Given the description of an element on the screen output the (x, y) to click on. 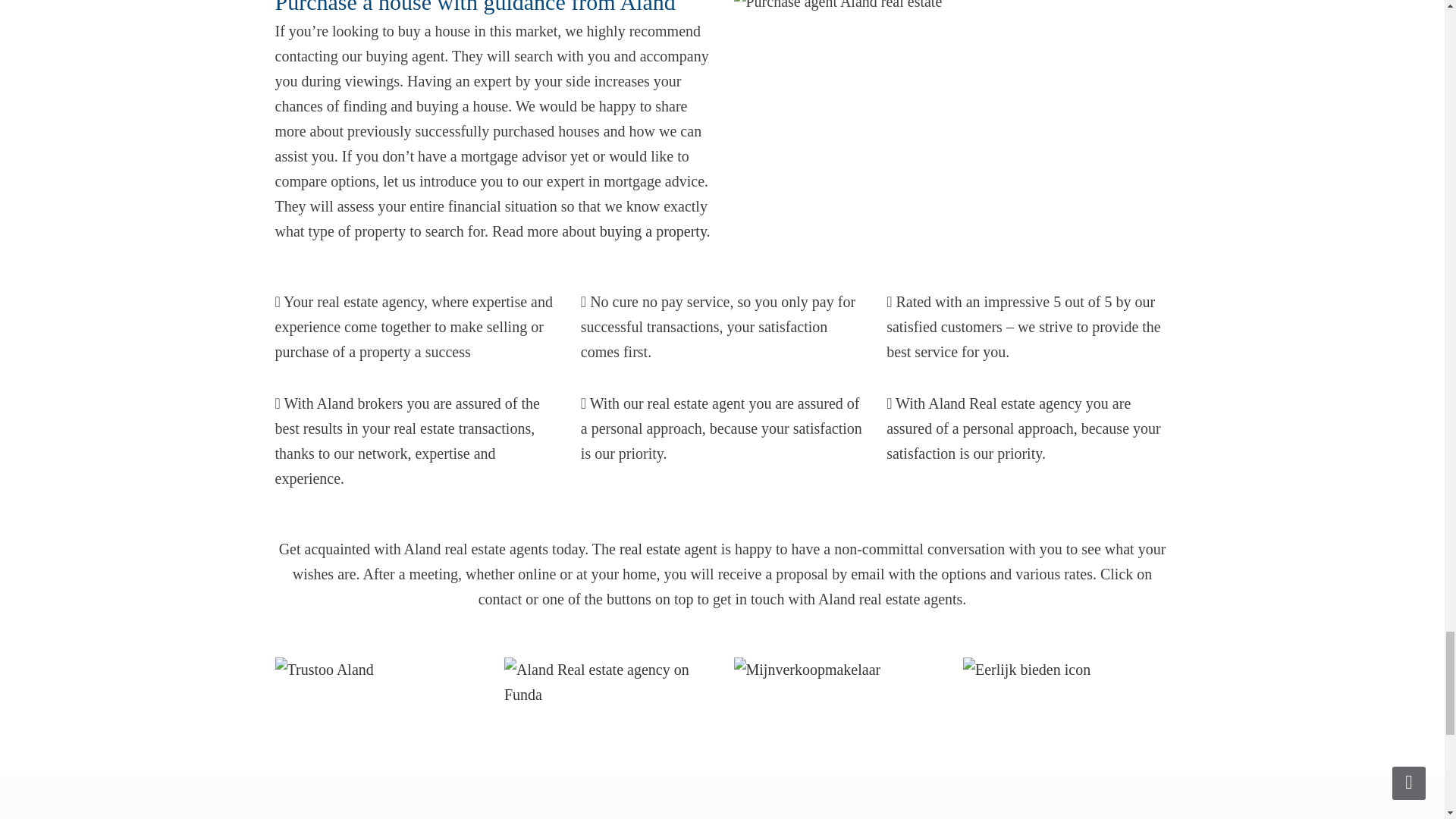
trustoo-icon (323, 669)
Real Estate Agent (668, 548)
purchase-agent (837, 7)
Aland-Real-estate-agency-funda-icon (607, 682)
Read more about buying a property (652, 230)
